Given the description of an element on the screen output the (x, y) to click on. 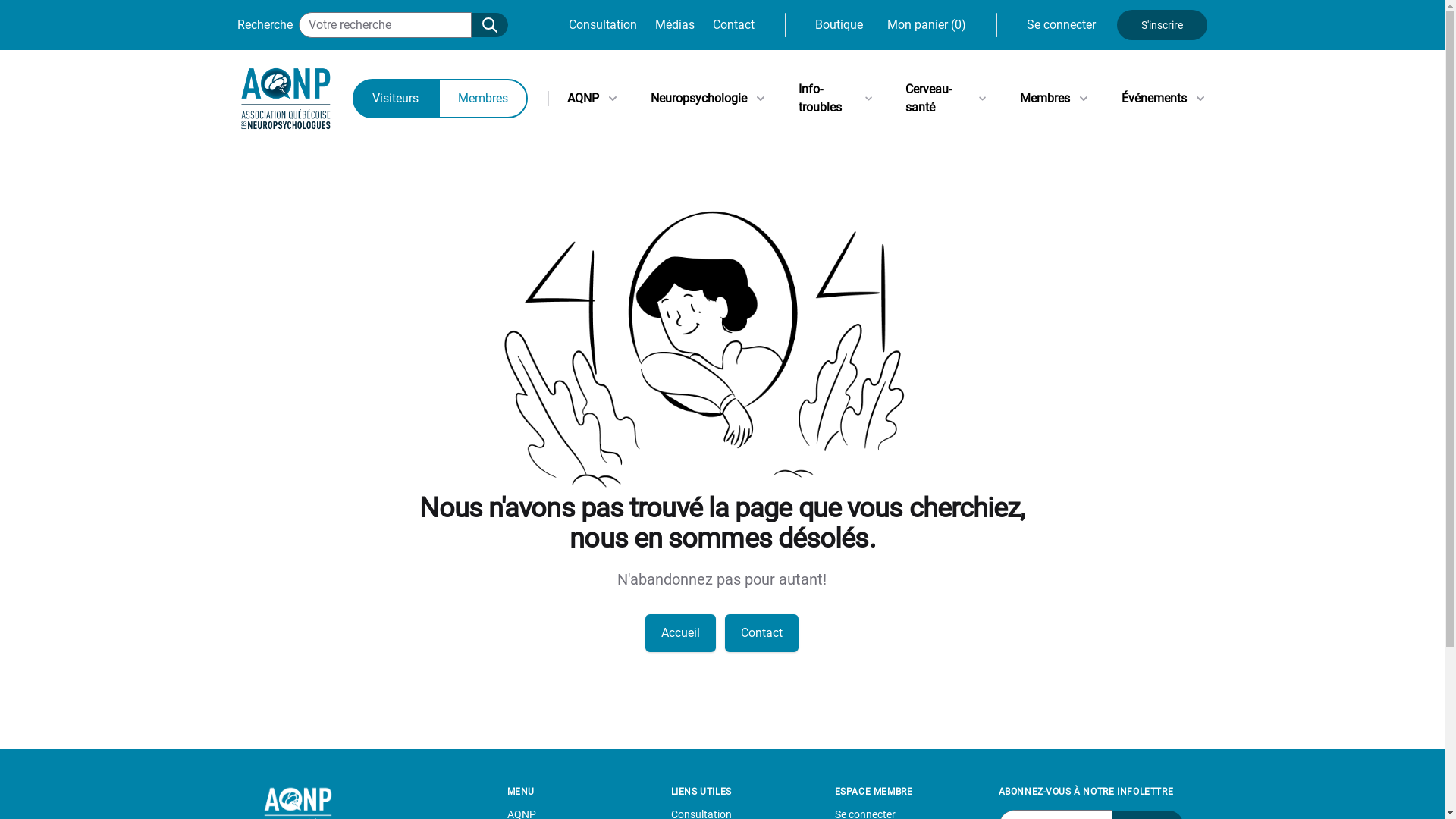
Neuropsychologie Element type: text (709, 98)
Membres Element type: text (1054, 98)
Contact Element type: text (761, 633)
Se connecter Element type: text (1060, 24)
Info-troubles Element type: text (835, 98)
S'inscrire Element type: text (1162, 24)
Visiteurs Element type: text (394, 98)
AQNP Element type: text (593, 98)
Mon panier (0) Element type: text (926, 24)
Contact Element type: text (733, 24)
Consultation Element type: text (602, 24)
Boutique Element type: text (838, 24)
Accueil Element type: text (680, 633)
Membres Element type: text (482, 98)
